Given the description of an element on the screen output the (x, y) to click on. 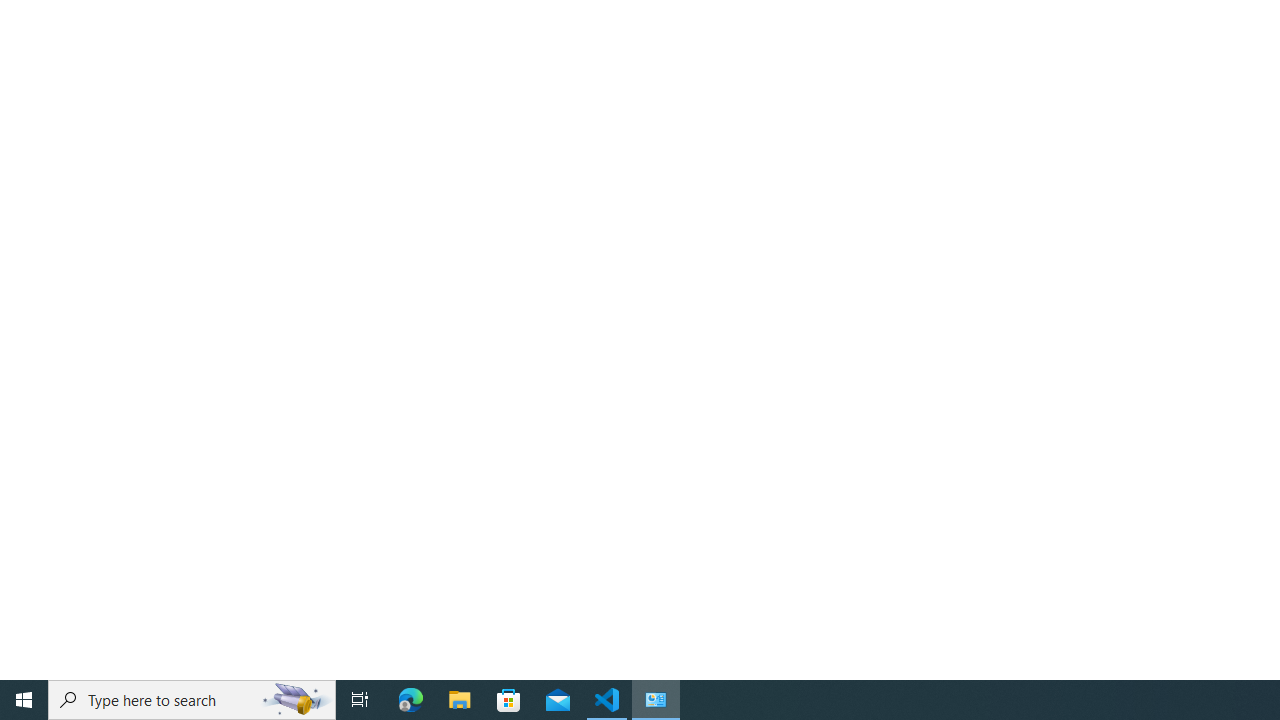
Control Panel - 1 running window (656, 699)
